Given the description of an element on the screen output the (x, y) to click on. 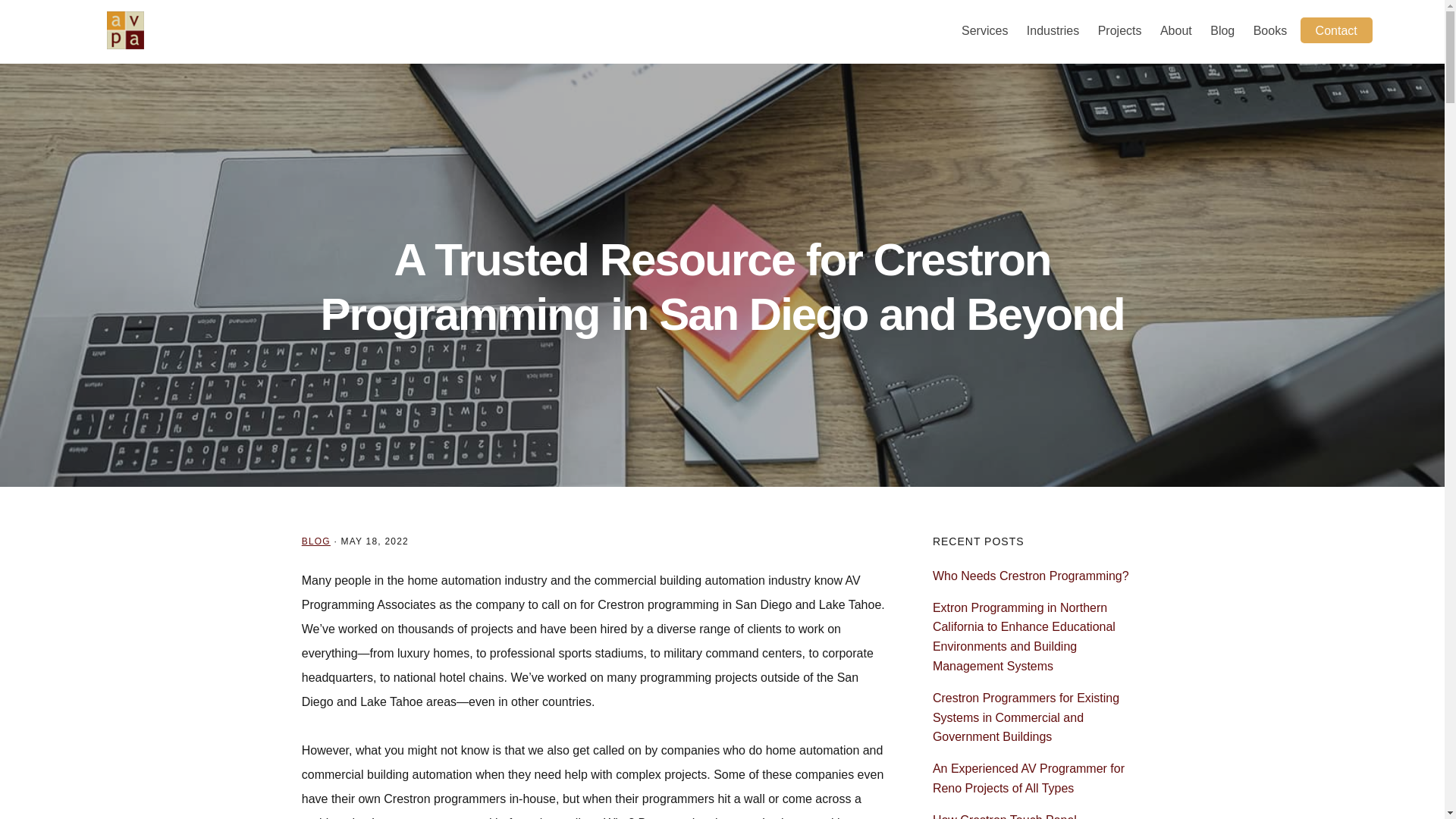
Books (1270, 31)
Industries (1052, 31)
Contact (1336, 30)
AV Programming Associates (124, 30)
An Experienced AV Programmer for Reno Projects of All Types (1028, 778)
Blog (1221, 31)
About (1176, 31)
BLOG (315, 541)
Projects (1119, 31)
Who Needs Crestron Programming? (1031, 575)
Services (983, 31)
